Given the description of an element on the screen output the (x, y) to click on. 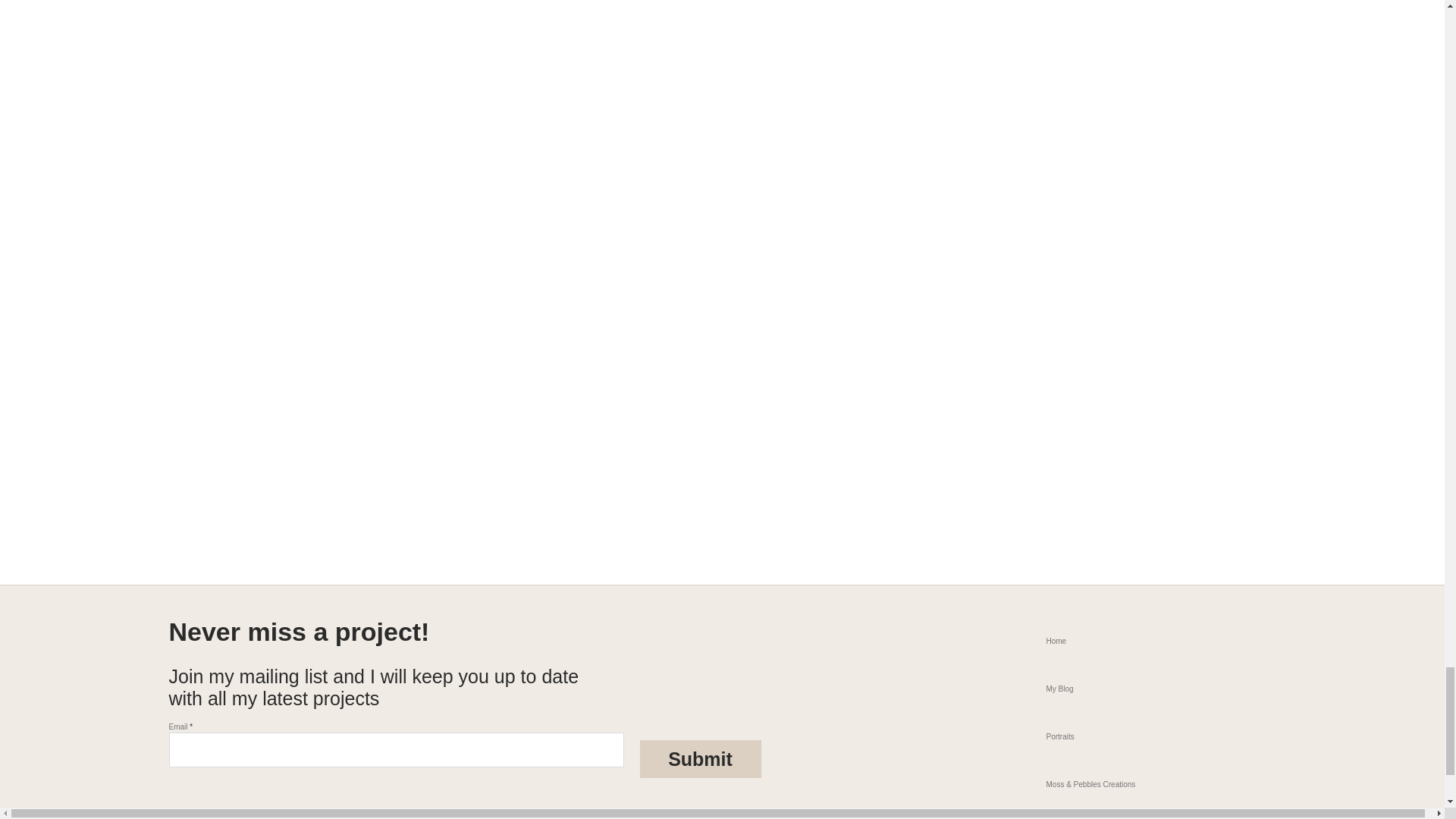
Submit (700, 759)
My Blog (1147, 688)
Portraits (1147, 736)
Home (1147, 641)
